Given the description of an element on the screen output the (x, y) to click on. 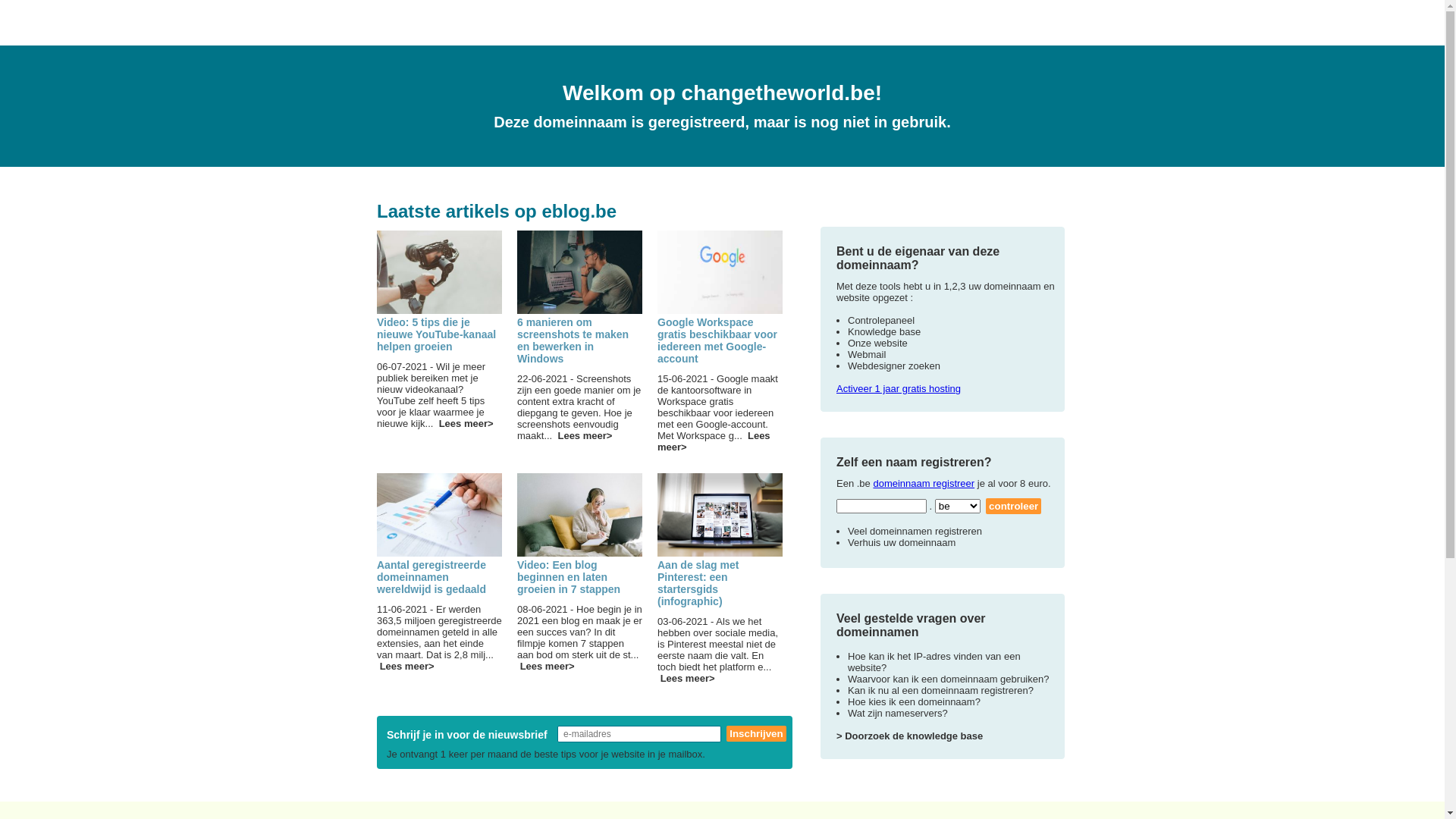
Onze website Element type: text (877, 342)
Hoe kan ik het IP-adres vinden van een website? Element type: text (933, 661)
Hoe kies ik een domeinnaam? Element type: text (913, 701)
domeinnaam registreer Element type: text (923, 483)
Kan ik nu al een domeinnaam registreren? Element type: text (940, 690)
Activeer 1 jaar gratis hosting Element type: text (898, 388)
Laatste artikels op eblog.be Element type: text (496, 210)
Inschrijven Element type: text (755, 733)
Webdesigner zoeken Element type: text (893, 365)
controleer Element type: text (1013, 506)
Webmail Element type: text (866, 354)
Controlepaneel Element type: text (880, 320)
Waarvoor kan ik een domeinnaam gebruiken? Element type: text (947, 678)
Veel domeinnamen registreren Element type: text (914, 530)
Knowledge base Element type: text (883, 331)
Wat zijn nameservers? Element type: text (897, 712)
> Doorzoek de knowledge base Element type: text (909, 735)
Verhuis uw domeinnaam Element type: text (901, 542)
